Given the description of an element on the screen output the (x, y) to click on. 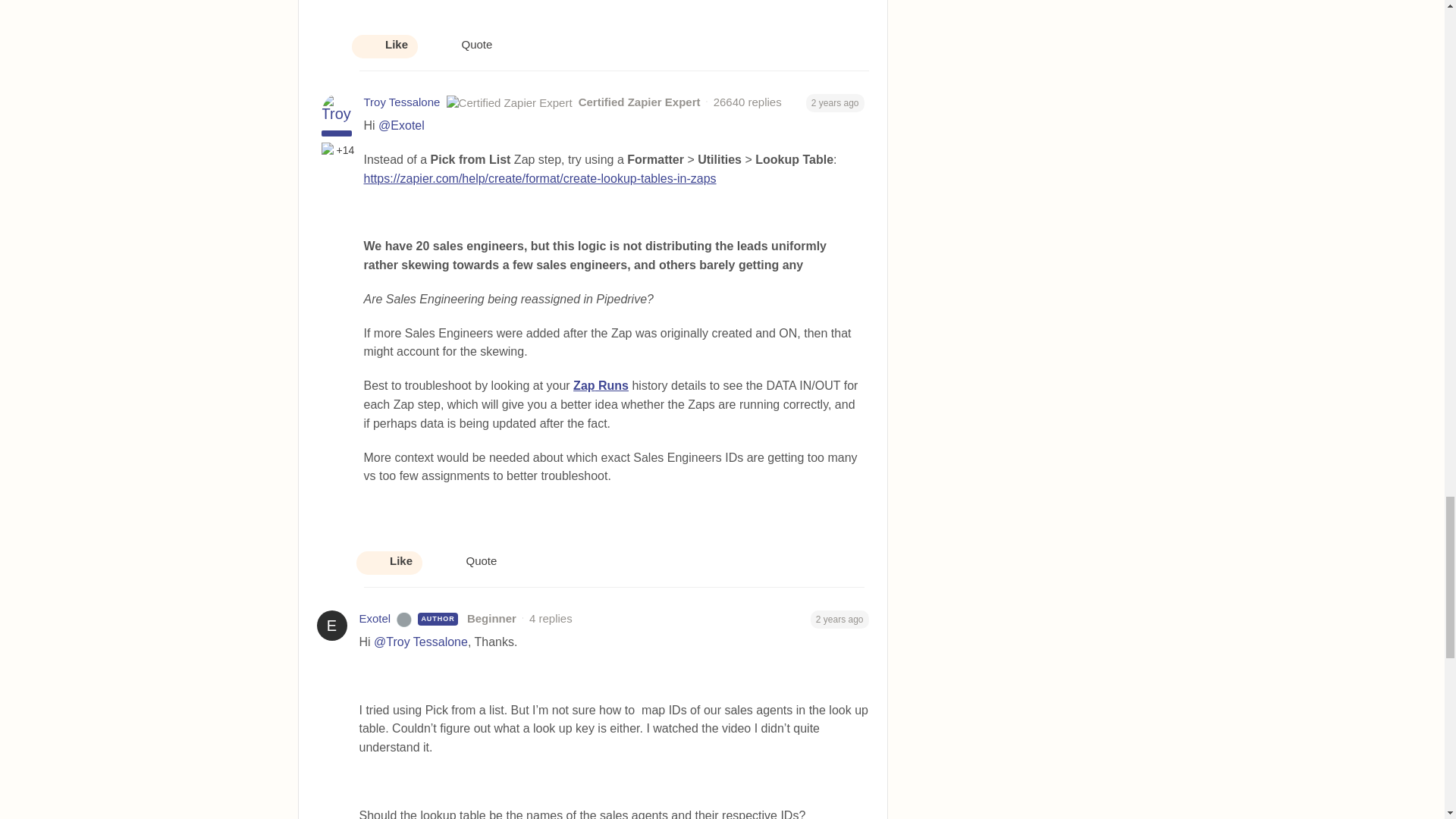
Troy Tessalone (402, 102)
Exotel (375, 619)
First Best Answer (328, 150)
